Given the description of an element on the screen output the (x, y) to click on. 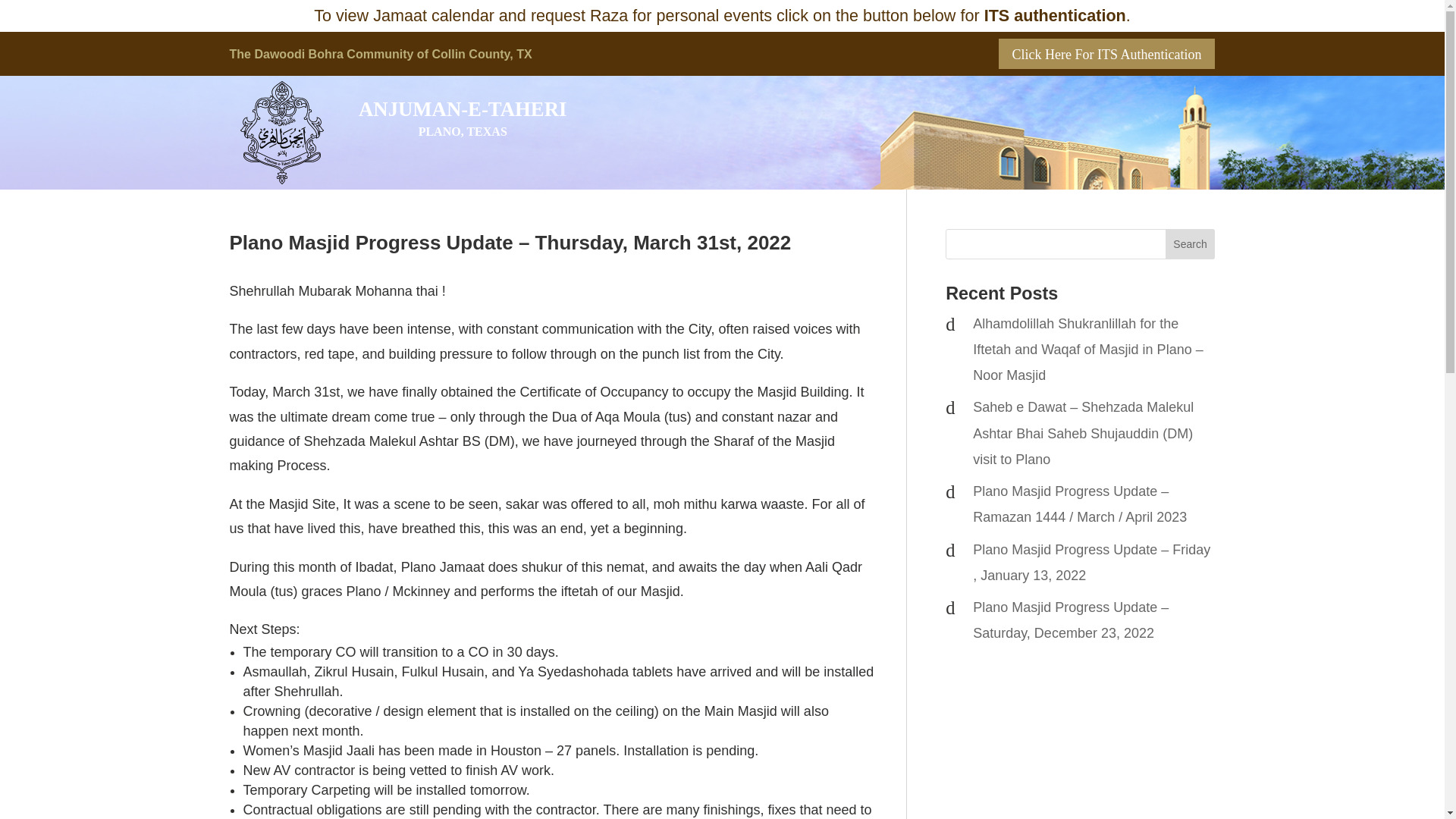
Search (1190, 244)
Search (1190, 244)
Click Here For ITS Authentication (1106, 53)
